Given the description of an element on the screen output the (x, y) to click on. 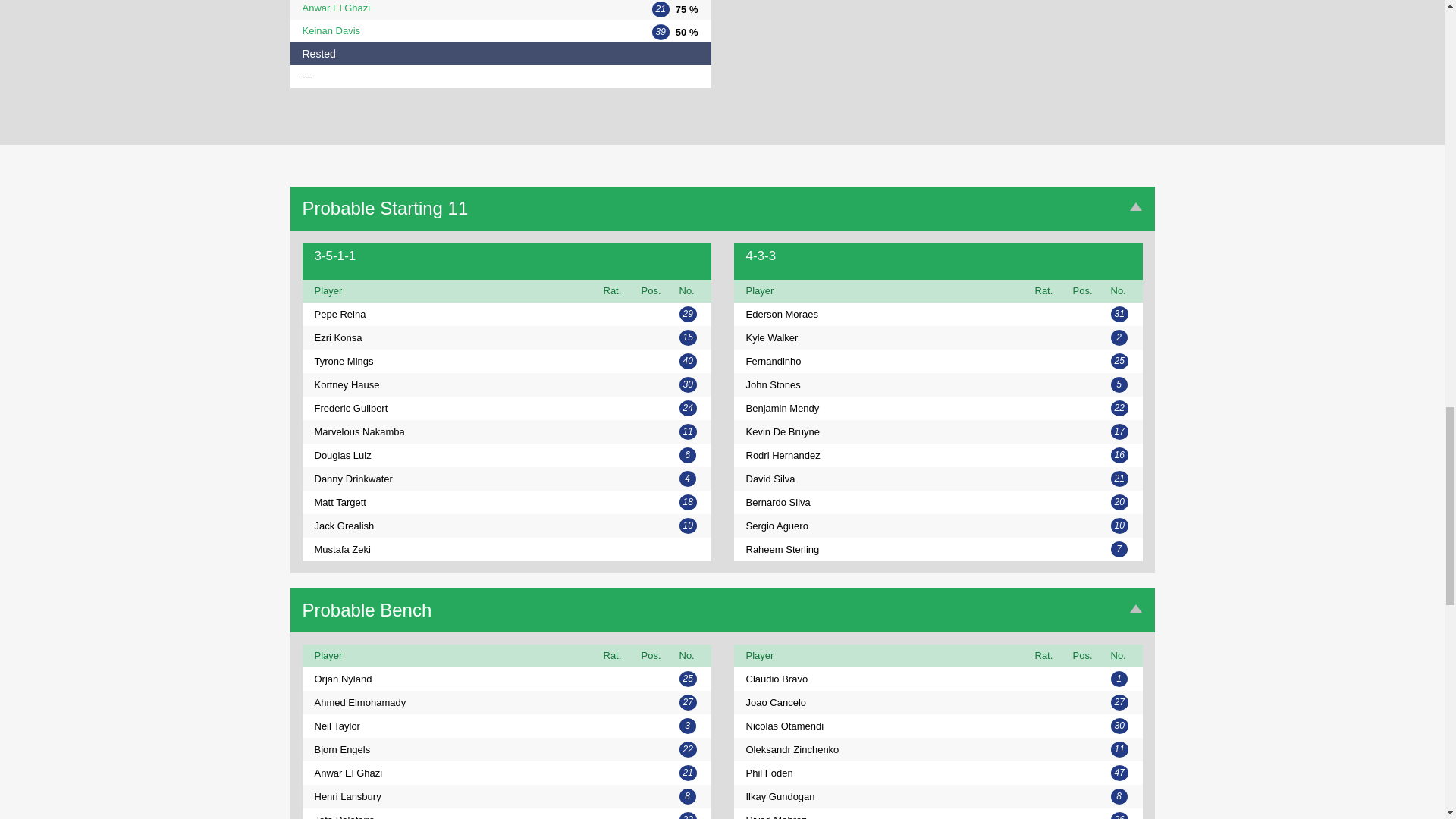
Anwar El Ghazi (448, 7)
Keinan Davis (448, 30)
